Given the description of an element on the screen output the (x, y) to click on. 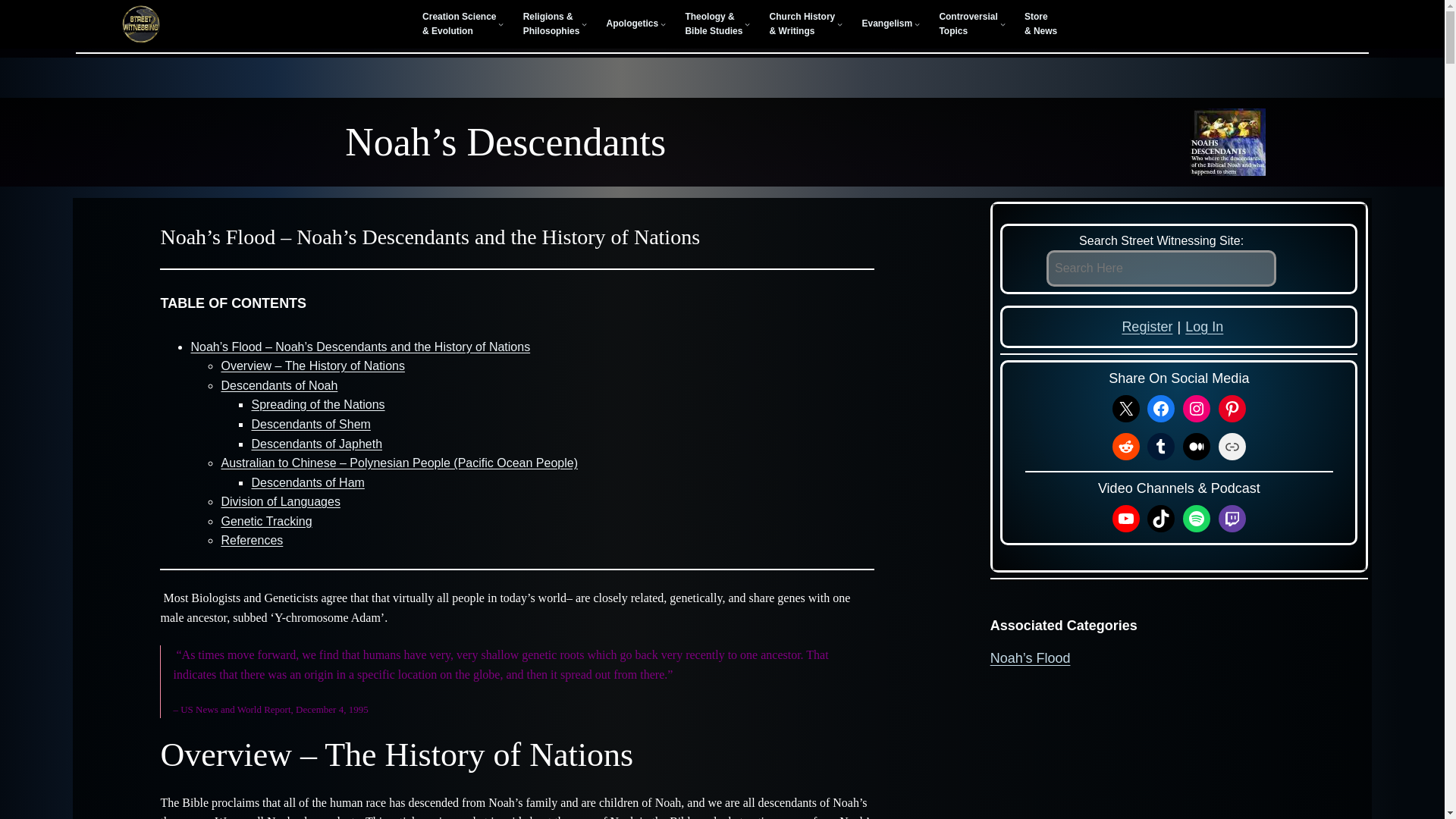
Apologetics (633, 23)
